Given the description of an element on the screen output the (x, y) to click on. 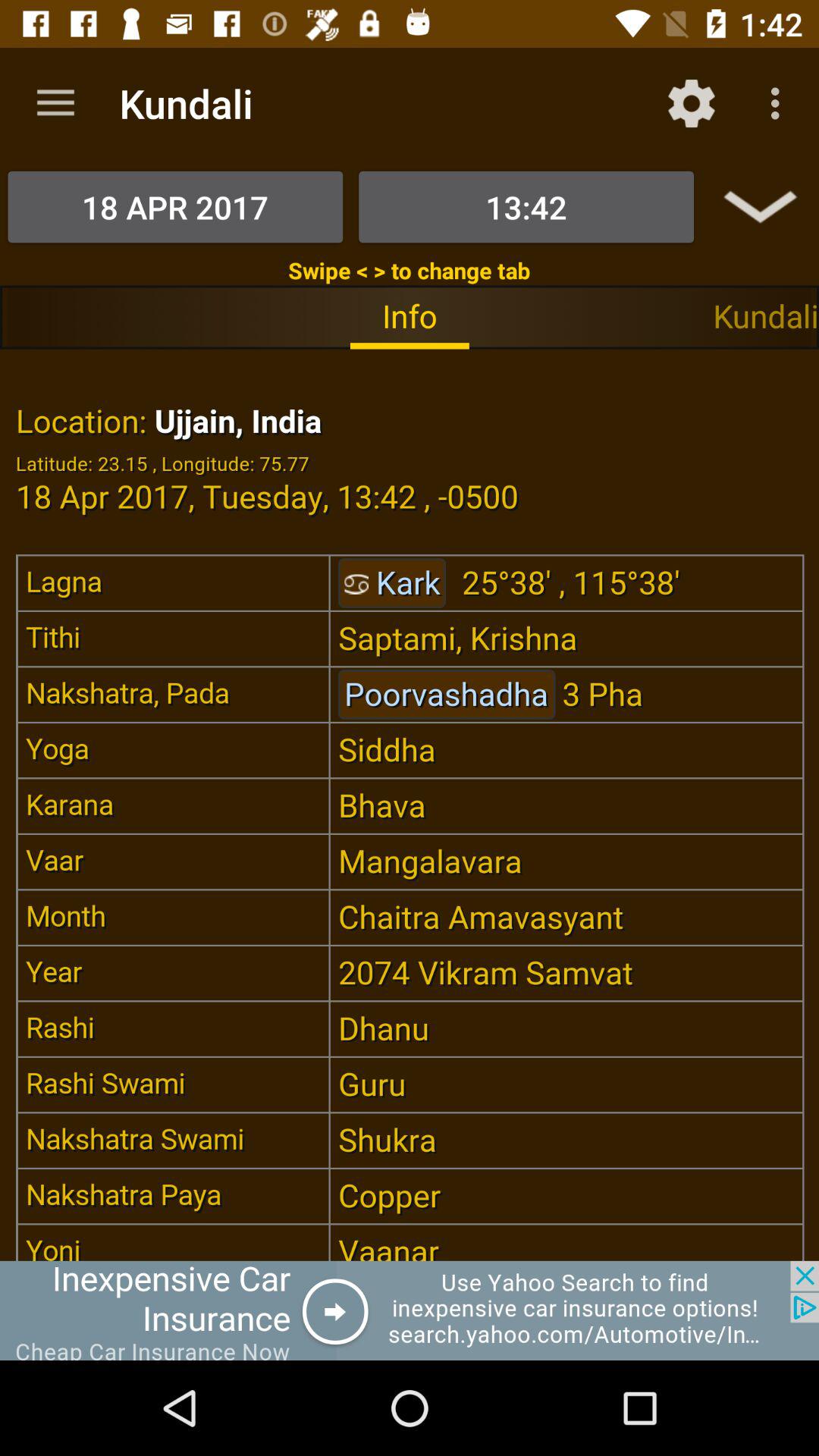
hindu calendar car insurance (409, 1310)
